Given the description of an element on the screen output the (x, y) to click on. 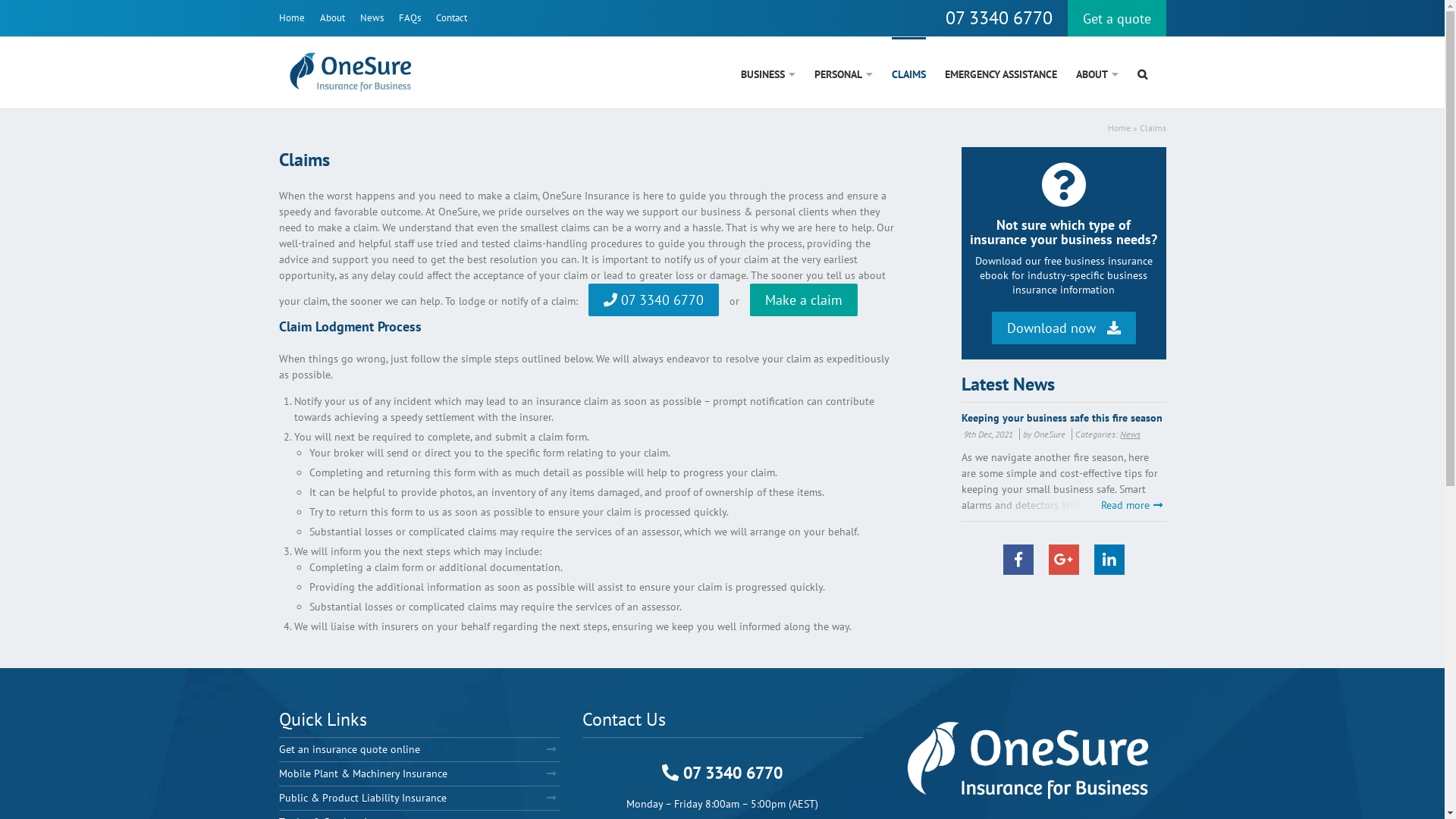
News Element type: text (370, 17)
Mobile Plant & Machinery Insurance Element type: text (419, 773)
EMERGENCY ASSISTANCE Element type: text (1000, 71)
About Element type: text (332, 17)
Public & Product Liability Insurance Element type: text (419, 798)
Keeping your business safe this fire season Element type: text (1063, 417)
PERSONAL Element type: text (843, 71)
07 3340 6770 Element type: text (722, 772)
07 3340 6770 Element type: text (653, 299)
Read more Element type: text (1131, 505)
Search Element type: hover (1142, 71)
CLAIMS Element type: text (908, 71)
Download now Element type: text (1063, 326)
Make a claim Element type: text (802, 299)
Get a quote Element type: text (1116, 18)
Home Element type: text (291, 17)
Contact Element type: text (450, 17)
News Element type: text (1130, 433)
Get an insurance quote online Element type: text (419, 749)
ABOUT Element type: text (1096, 71)
07 3340 6770 Element type: text (997, 17)
BUSINESS Element type: text (767, 71)
Home Element type: text (1118, 127)
FAQs Element type: text (409, 17)
